Given the description of an element on the screen output the (x, y) to click on. 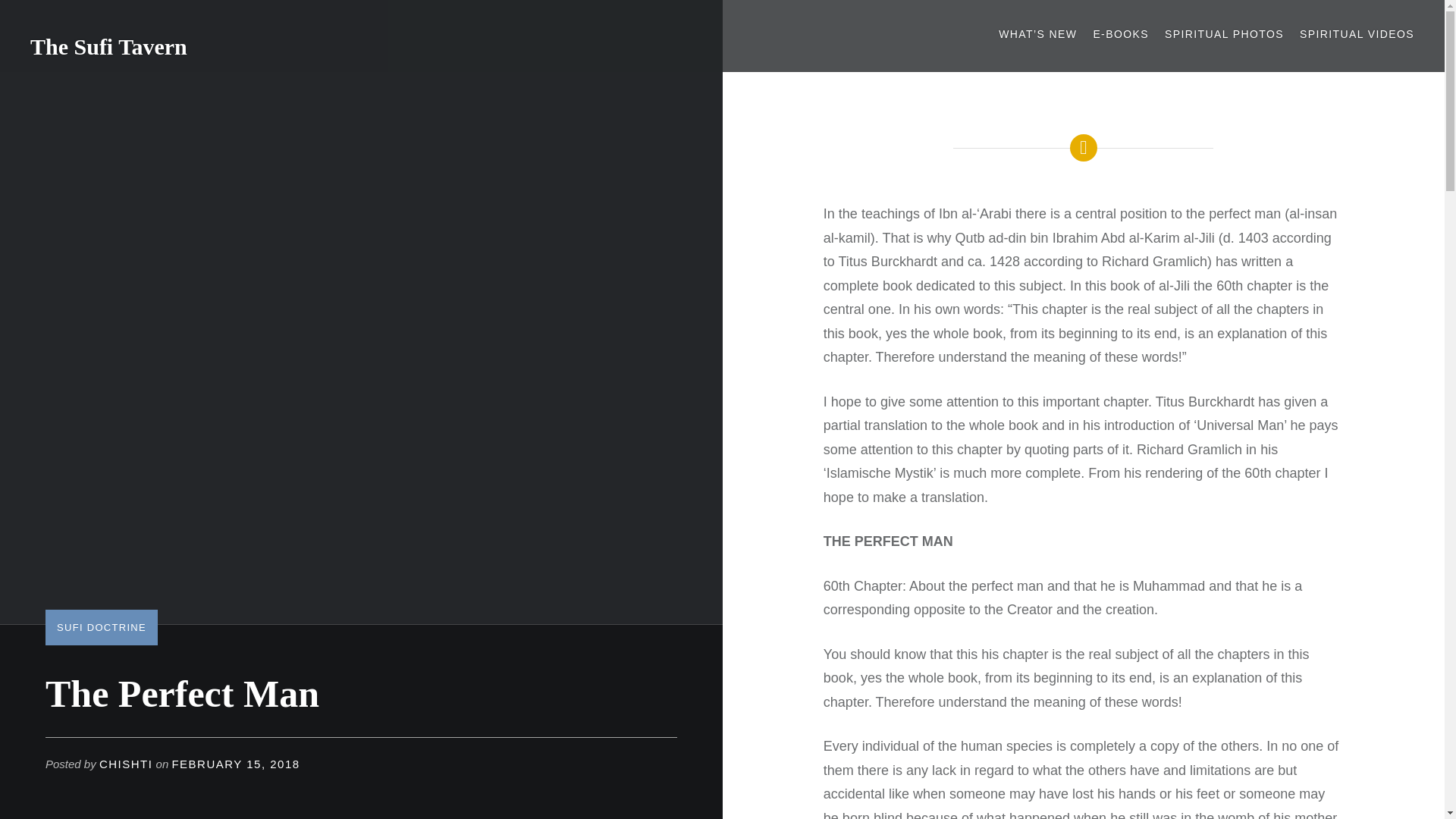
SUFI DOCTRINE (101, 627)
The Sufi Tavern (108, 46)
SPIRITUAL VIDEOS (1356, 34)
Search (361, 19)
E-BOOKS (1120, 34)
CHISHTI (125, 763)
SPIRITUAL PHOTOS (1224, 34)
FEBRUARY 15, 2018 (235, 763)
